Given the description of an element on the screen output the (x, y) to click on. 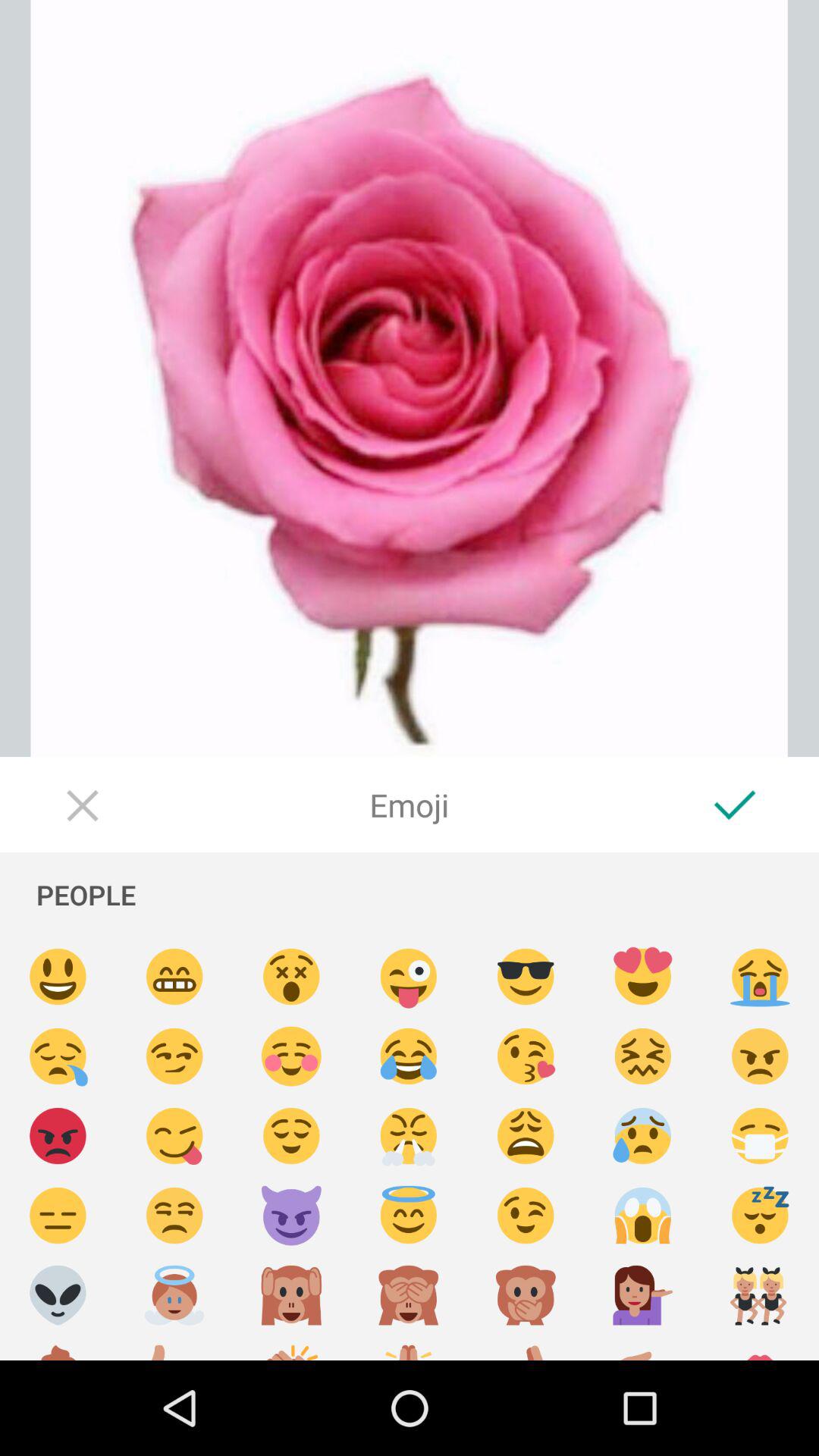
add an emoji (760, 976)
